Given the description of an element on the screen output the (x, y) to click on. 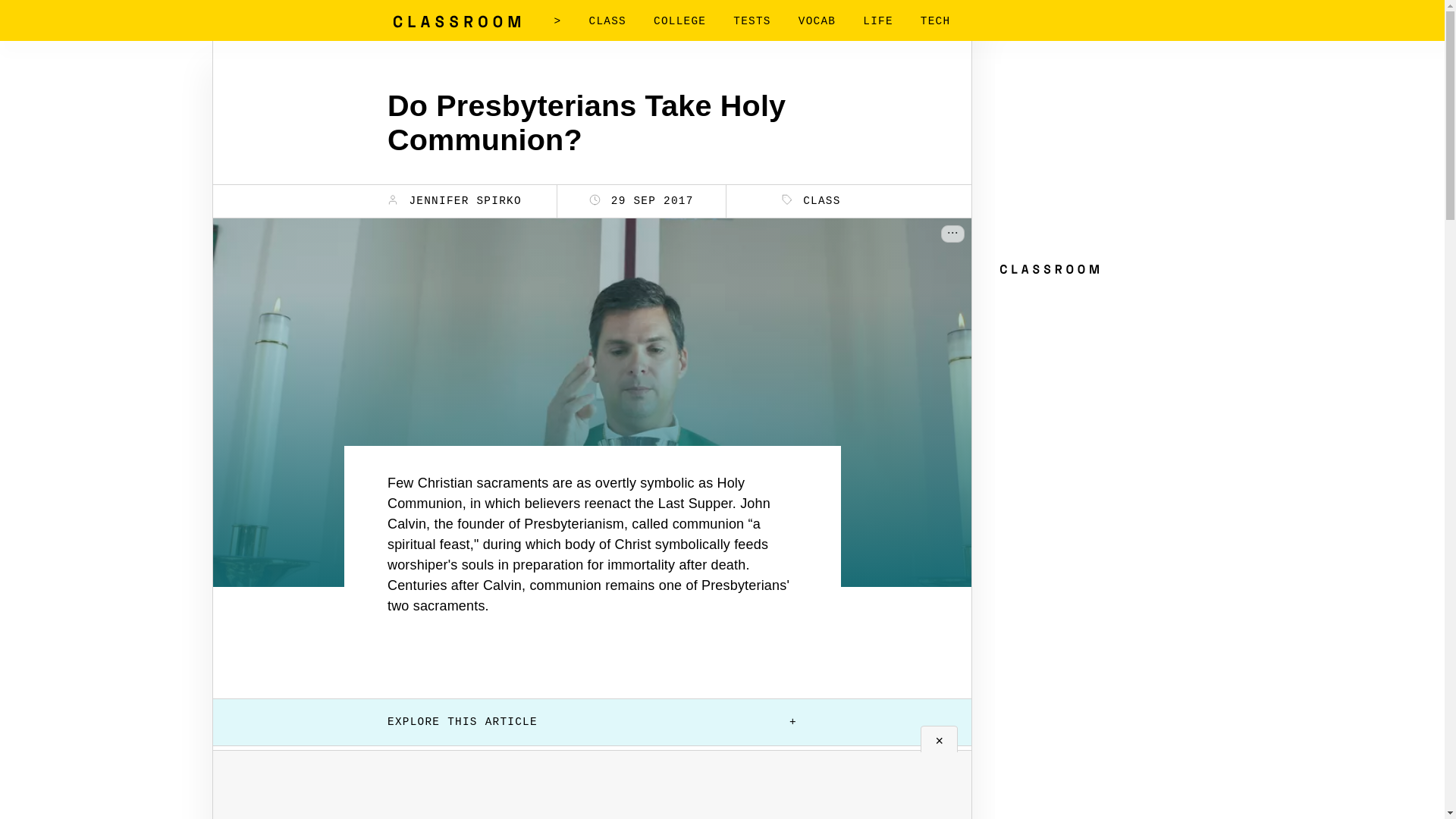
TESTS (751, 21)
Advertisement (591, 796)
COLLEGE (679, 21)
LIFE (878, 21)
TECH (935, 21)
CLASS (811, 200)
VOCAB (816, 21)
CLASS (607, 21)
